Given the description of an element on the screen output the (x, y) to click on. 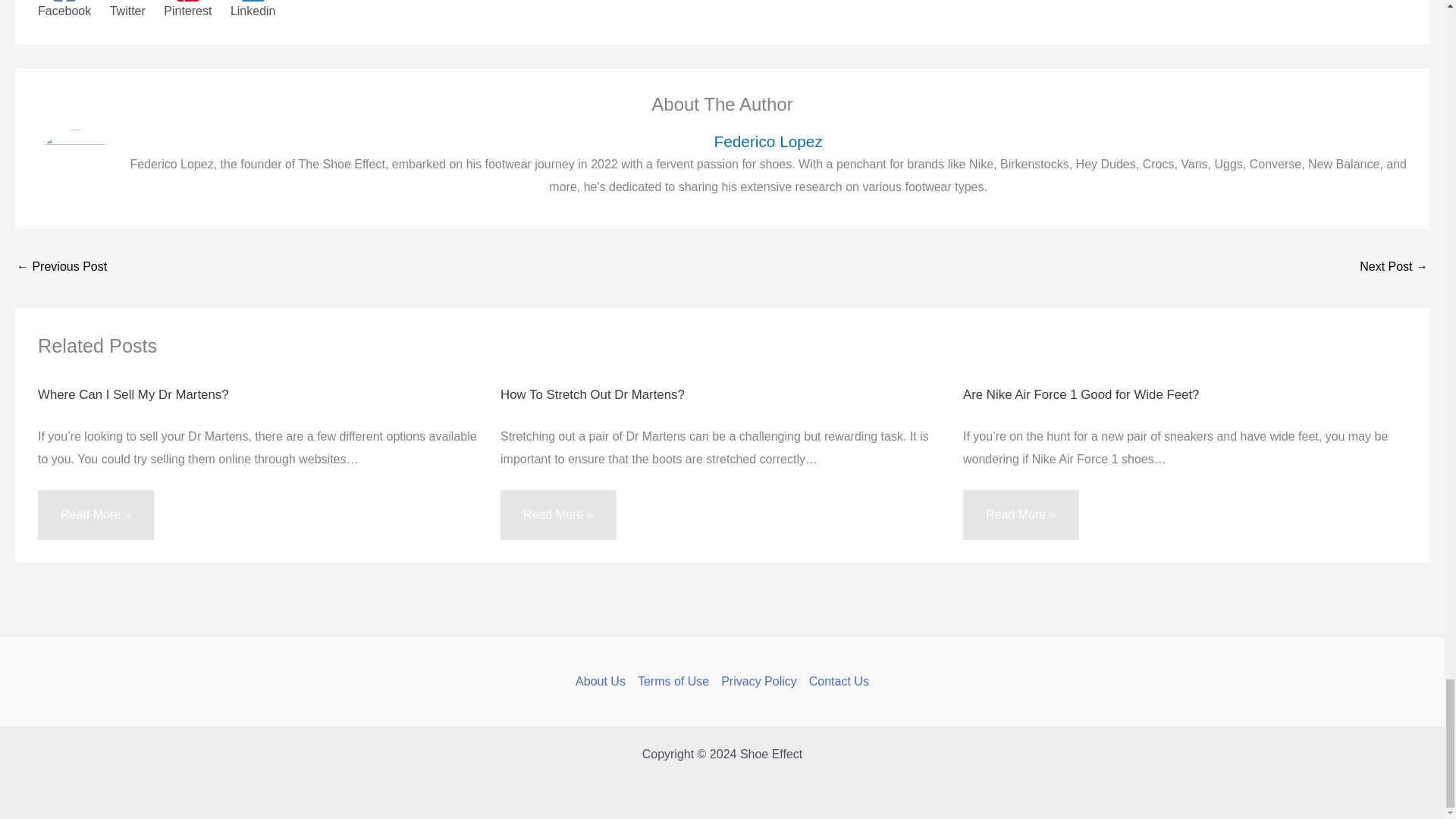
Federico Lopez (767, 141)
Twitter (127, 9)
Contact Us (836, 681)
Where Can I Sell My Dr Martens? (132, 394)
Facebook (63, 9)
Privacy Policy (758, 681)
Are Nike Air Force 1 Good for Wide Feet? (1080, 394)
How To Stretch Out Dr Martens? (592, 394)
Why Are Reebok Stores Closing? (1393, 267)
About Us (603, 681)
Terms of Use (672, 681)
Glassy Wedge Style: Burberry Glass Wedge Shoe (61, 267)
Linkedin (253, 9)
Pinterest (187, 9)
